Given the description of an element on the screen output the (x, y) to click on. 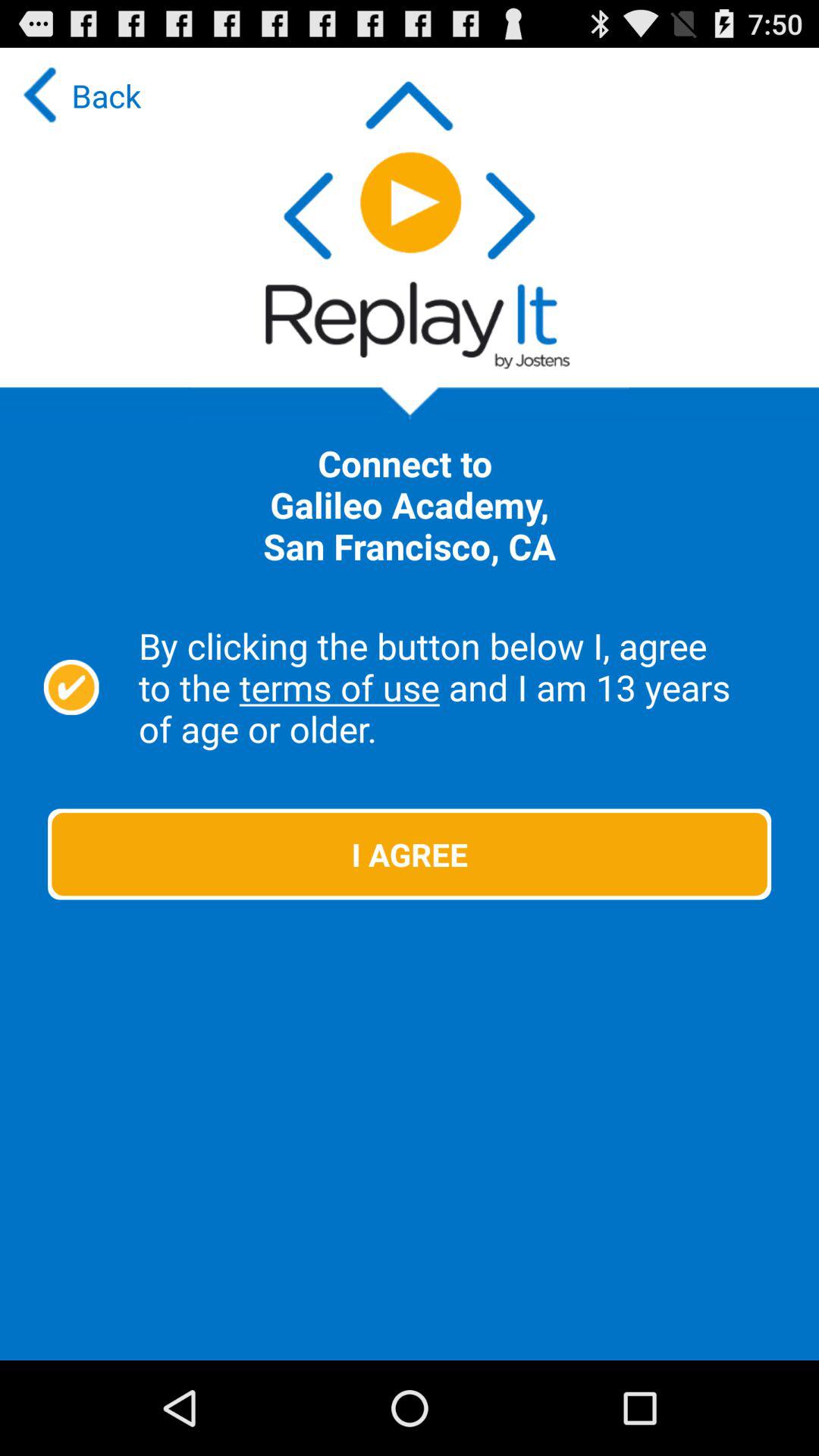
turn on the button above i agree icon (460, 687)
